Given the description of an element on the screen output the (x, y) to click on. 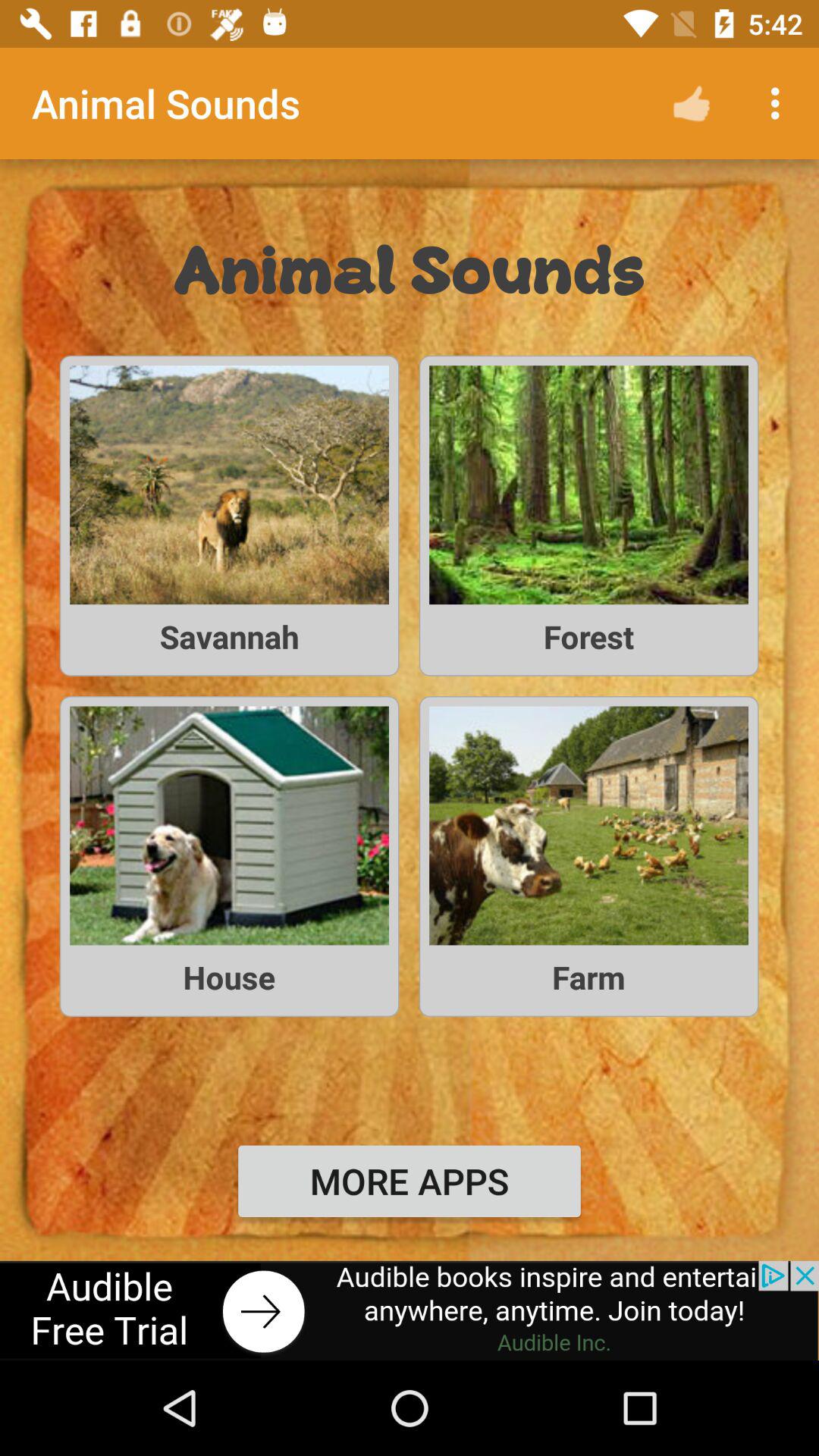
go to this advertised product (409, 1310)
